Given the description of an element on the screen output the (x, y) to click on. 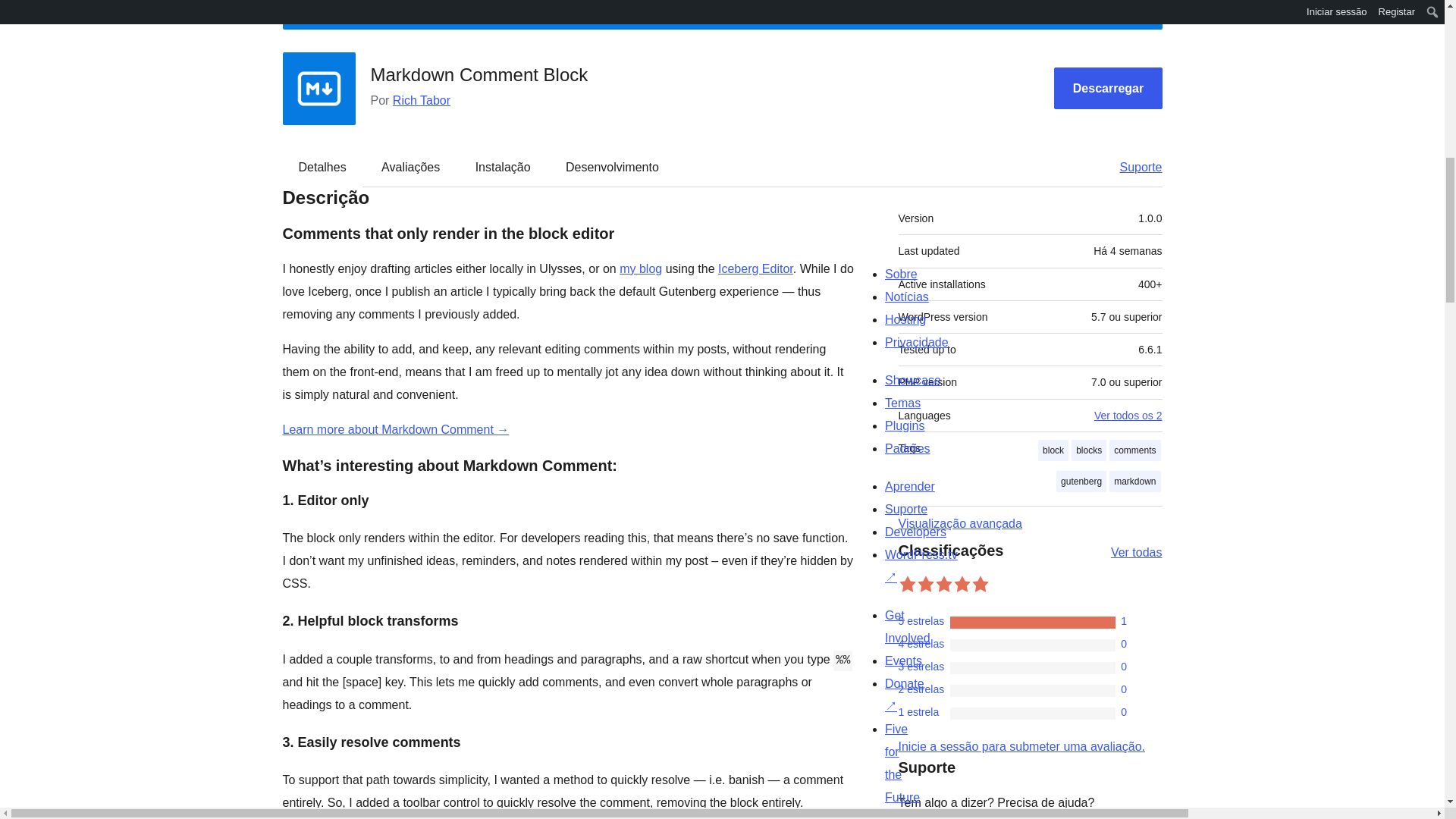
my blog (641, 268)
Suporte (1132, 167)
Desenvolvimento (612, 167)
Rich Tabor (421, 100)
Descarregar (1107, 87)
Detalhes (322, 167)
Iceberg Editor (755, 268)
